Given the description of an element on the screen output the (x, y) to click on. 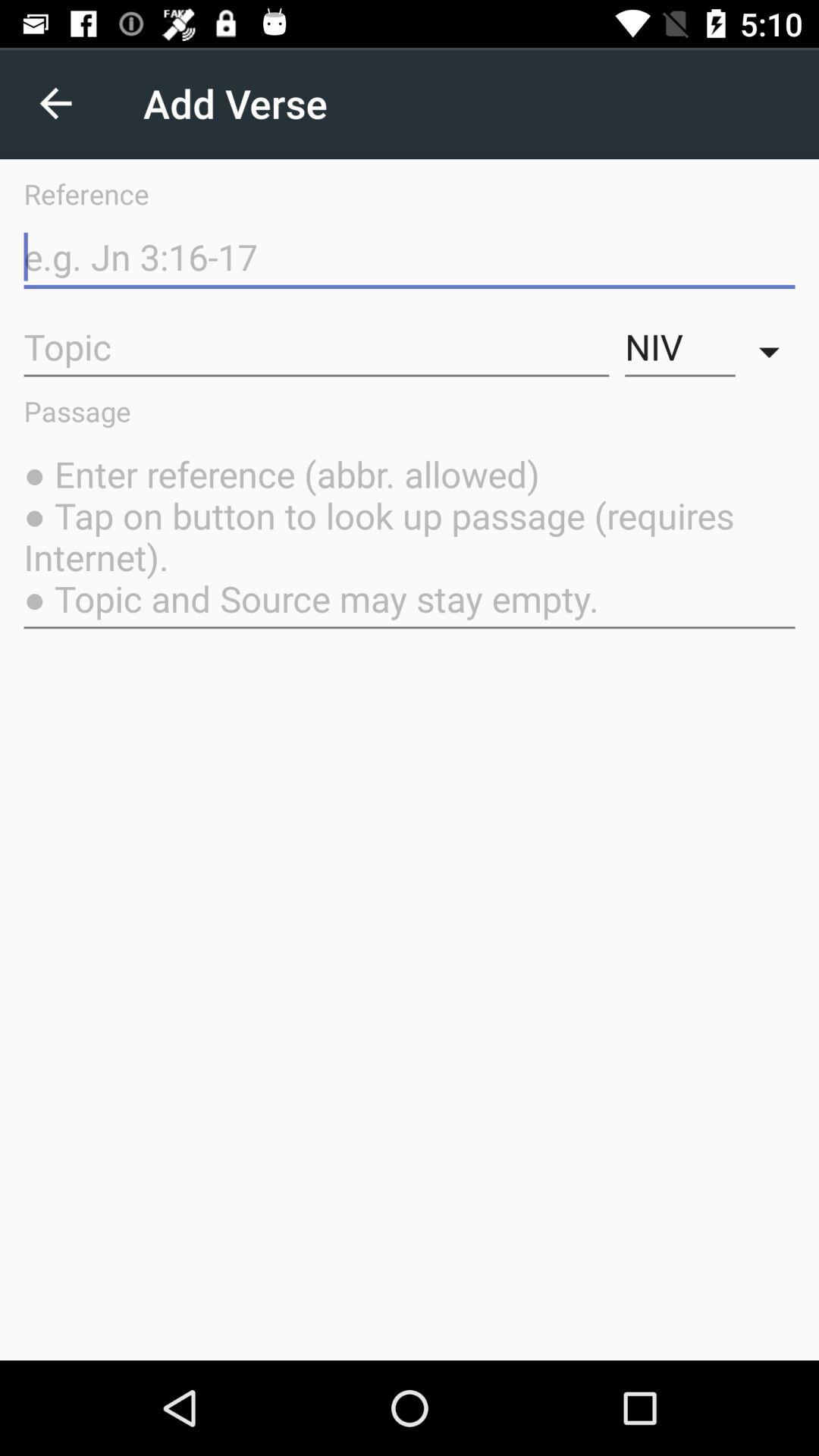
turn on the icon next to niv icon (316, 347)
